Given the description of an element on the screen output the (x, y) to click on. 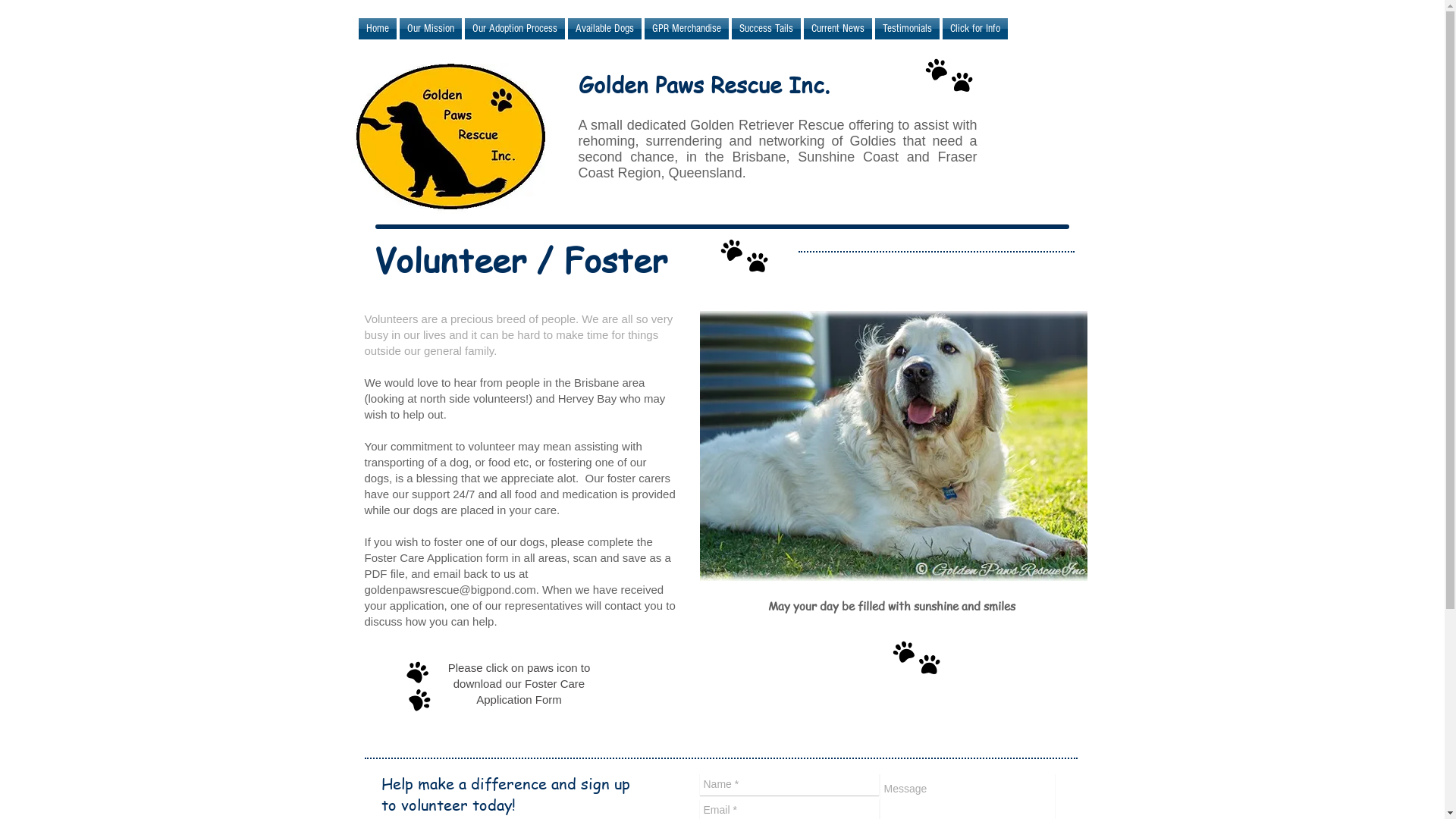
GPR Merchandise Element type: text (686, 28)
goldenpawsrescue@bigpond.com Element type: text (449, 589)
Our Mission Element type: text (429, 28)
Home Element type: text (377, 28)
Success Tails Element type: text (765, 28)
Testimonials Element type: text (907, 28)
Current News Element type: text (837, 28)
Available Dogs Element type: text (603, 28)
Our Adoption Process Element type: text (513, 28)
